Given the description of an element on the screen output the (x, y) to click on. 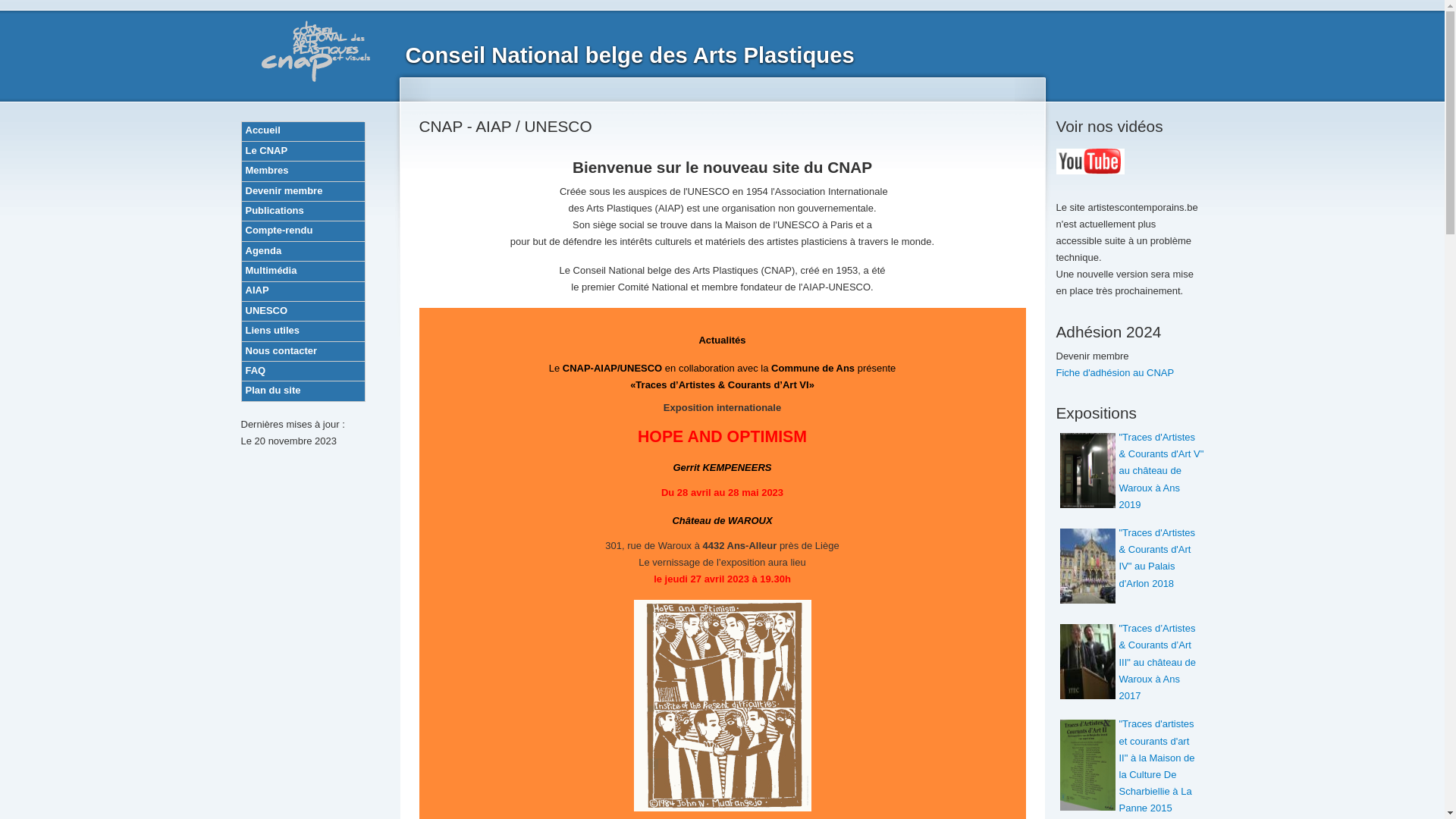
UNESCO Element type: text (302, 310)
Liens utiles Element type: text (302, 329)
Publications Element type: text (302, 210)
Plan du site Element type: text (302, 389)
Devenir membre Element type: text (302, 190)
Le CNAP Element type: text (302, 150)
Agenda Element type: text (302, 250)
Nous contacter Element type: text (302, 350)
Conseil National belge des Arts Plastiques Element type: text (628, 55)
Accueil Element type: text (302, 129)
Compte-rendu Element type: text (302, 229)
Membres Element type: text (302, 169)
AIAP Element type: text (302, 290)
FAQ Element type: text (302, 370)
